Given the description of an element on the screen output the (x, y) to click on. 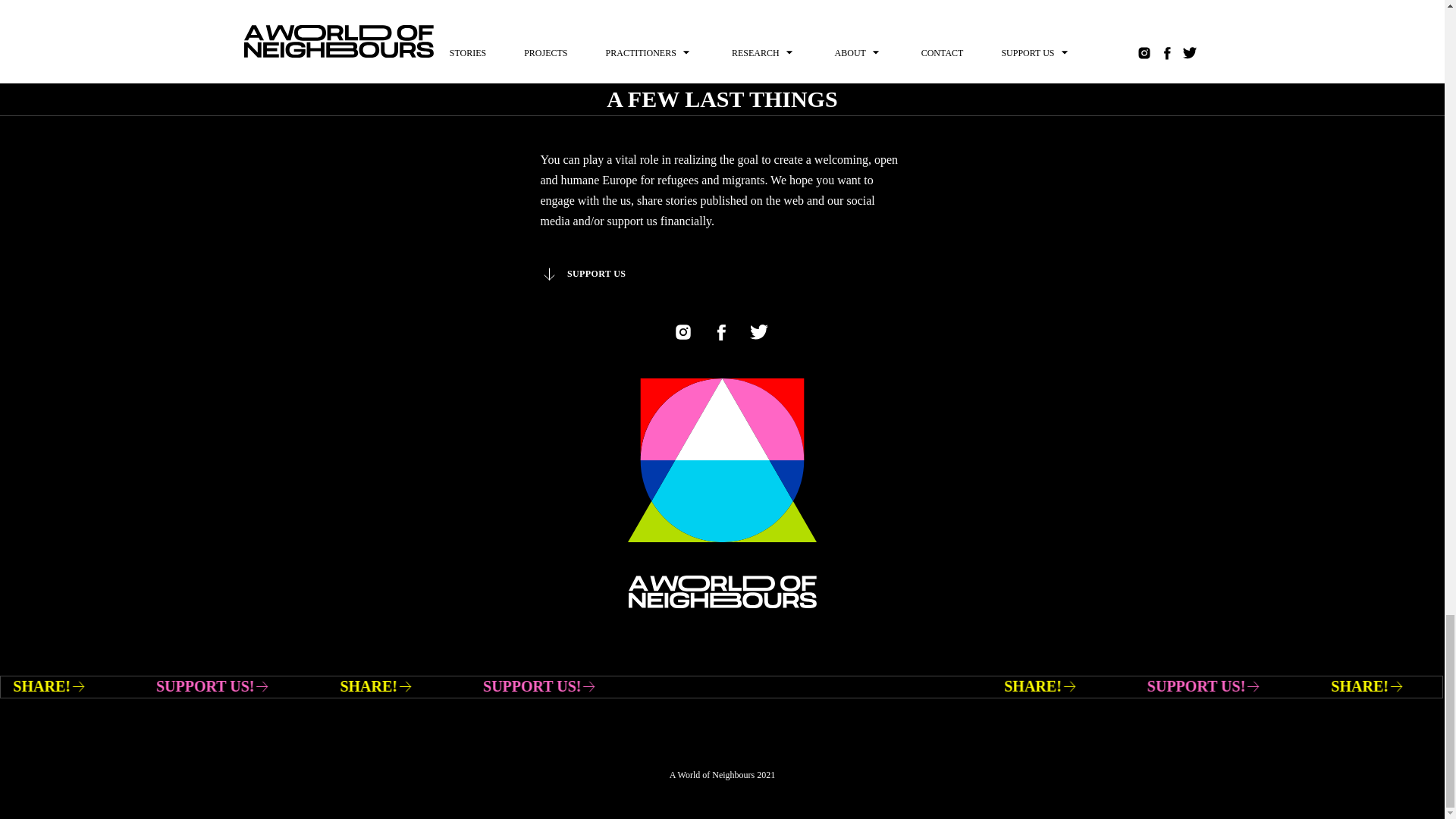
SUPPORT US (583, 273)
